Given the description of an element on the screen output the (x, y) to click on. 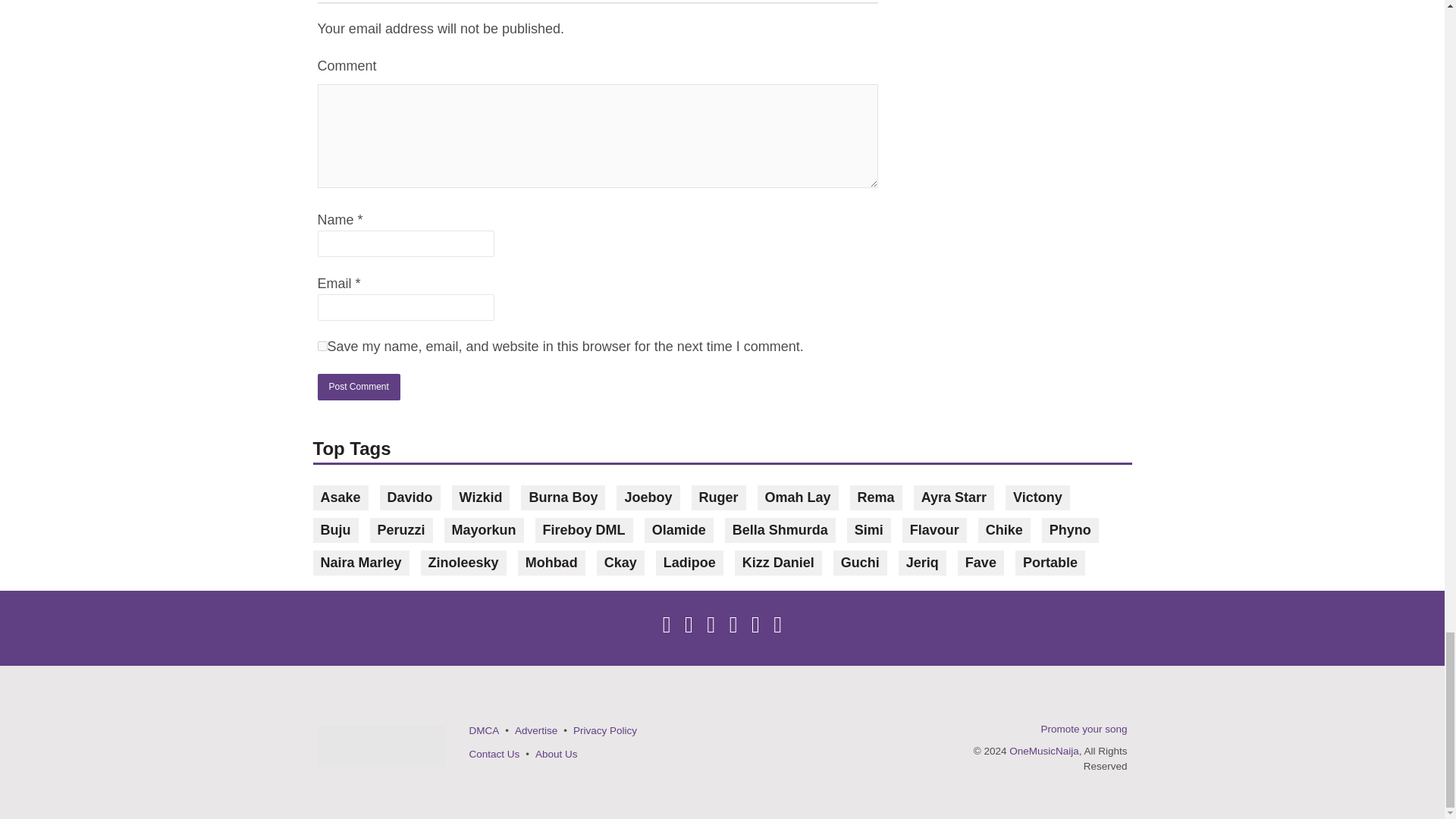
yes (321, 346)
Post Comment (357, 386)
